Given the description of an element on the screen output the (x, y) to click on. 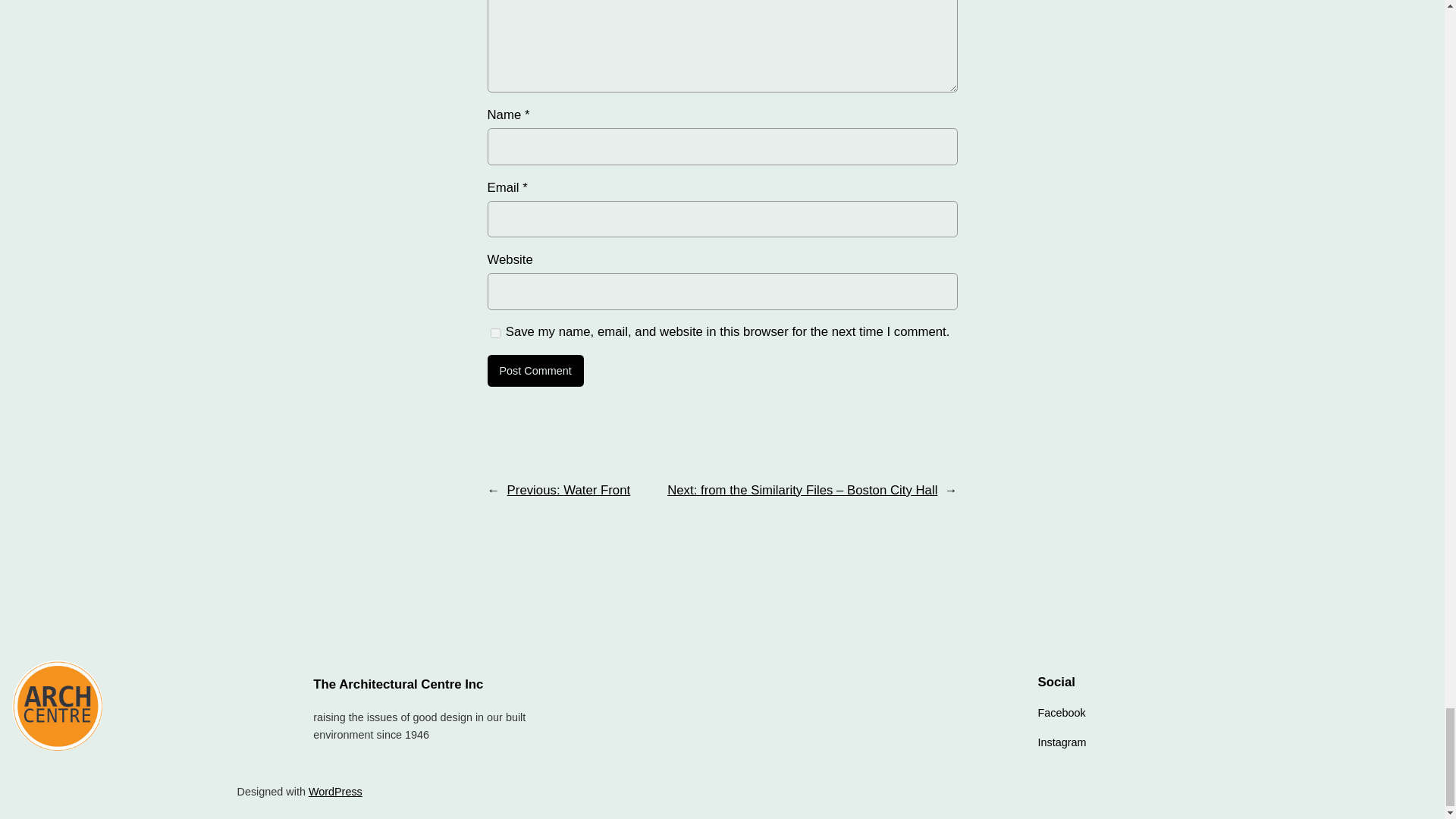
Post Comment (534, 370)
